Given the description of an element on the screen output the (x, y) to click on. 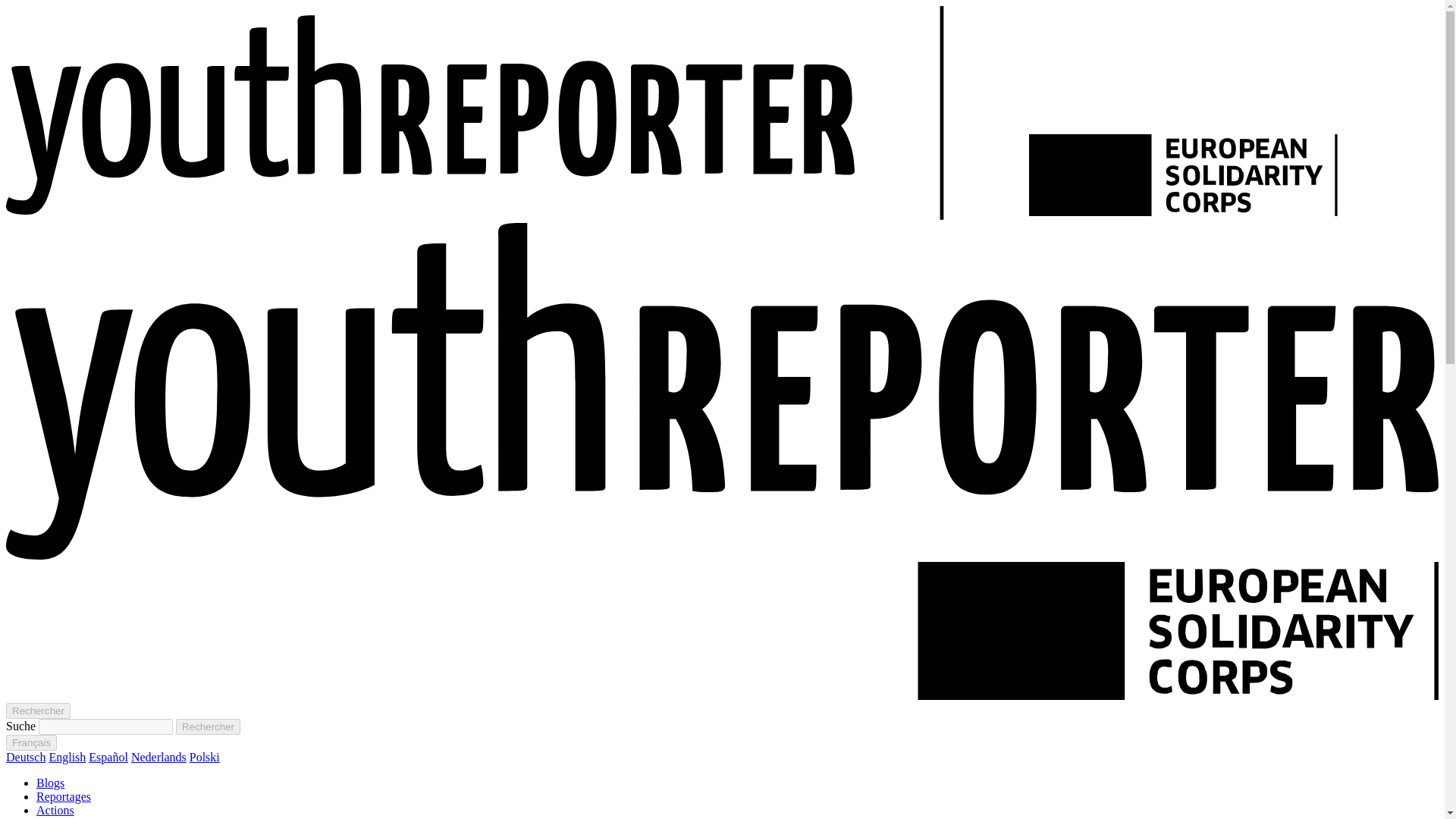
Deutsch (25, 757)
Blogs (50, 782)
English (66, 757)
Nederlands (158, 757)
Reportages (63, 796)
Rechercher (37, 710)
Actions (55, 809)
Rechercher (208, 726)
Polski (204, 757)
Rechercher (208, 726)
